Given the description of an element on the screen output the (x, y) to click on. 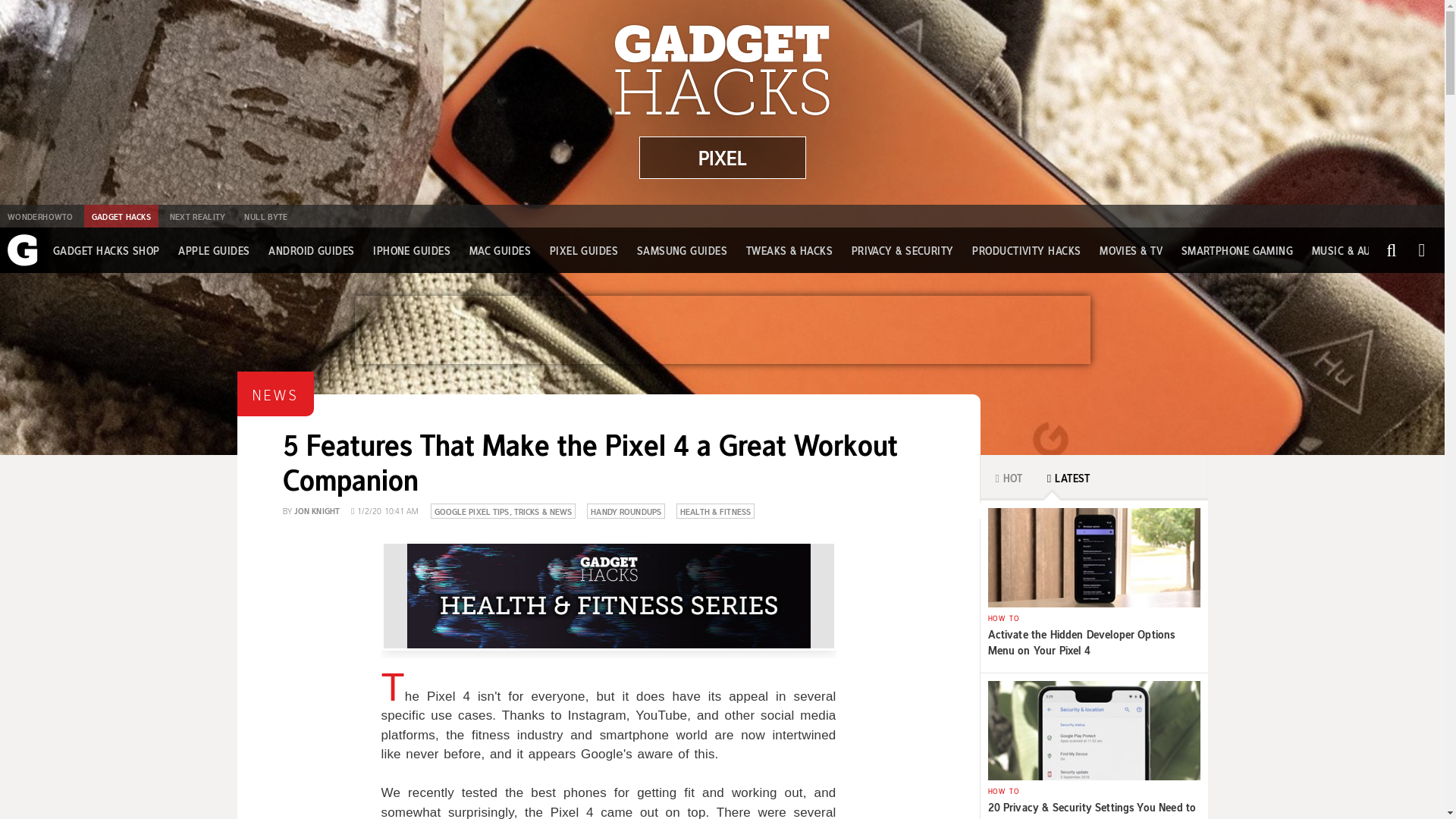
PIXEL (722, 157)
Pixel (722, 157)
NULL BYTE (265, 215)
ANDROID GUIDES (310, 249)
MAC GUIDES (499, 249)
HANDY ROUNDUPS (626, 510)
IPHONE GUIDES (410, 249)
JON KNIGHT (316, 509)
PRODUCTIVITY HACKS (1026, 249)
GADGET HACKS SHOP (106, 249)
NEXT REALITY (196, 215)
SAMSUNG GUIDES (681, 249)
SMARTPHONE GAMING (1237, 249)
APPLE GUIDES (212, 249)
PIXEL GUIDES (583, 249)
